Given the description of an element on the screen output the (x, y) to click on. 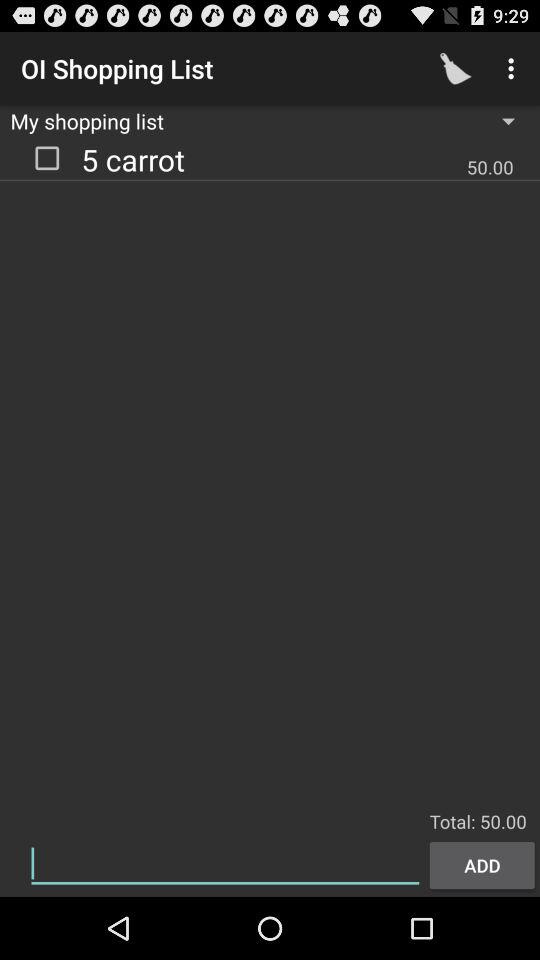
typing bar (225, 863)
